Given the description of an element on the screen output the (x, y) to click on. 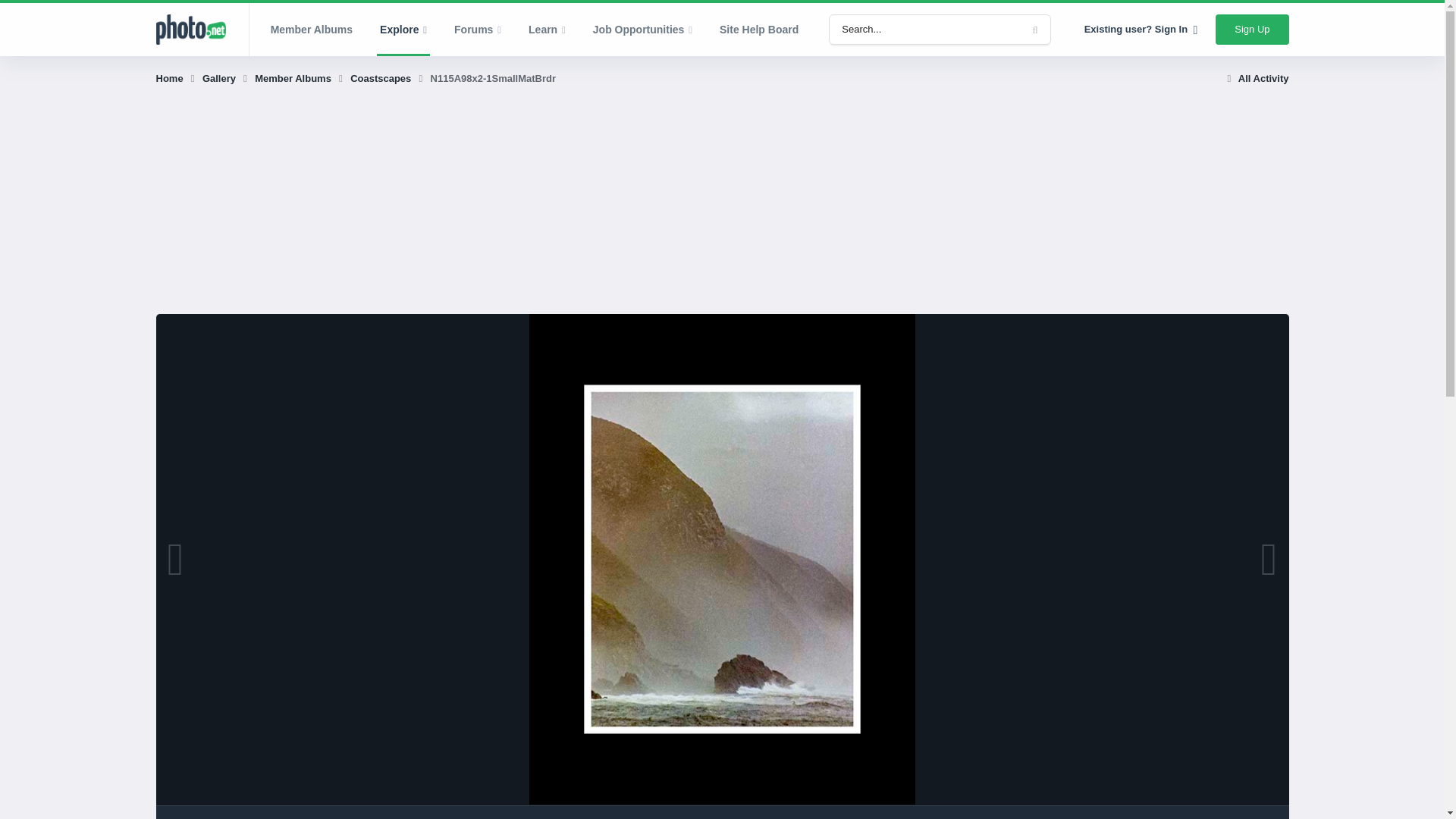
Learn (547, 29)
Existing user? Sign In   (1140, 29)
Sign Up (1251, 29)
Home (177, 78)
Explore (403, 29)
Advertisement (431, 207)
Forums (478, 29)
Member Albums (311, 29)
Site Help Board (759, 29)
Job Opportunities (642, 29)
